Given the description of an element on the screen output the (x, y) to click on. 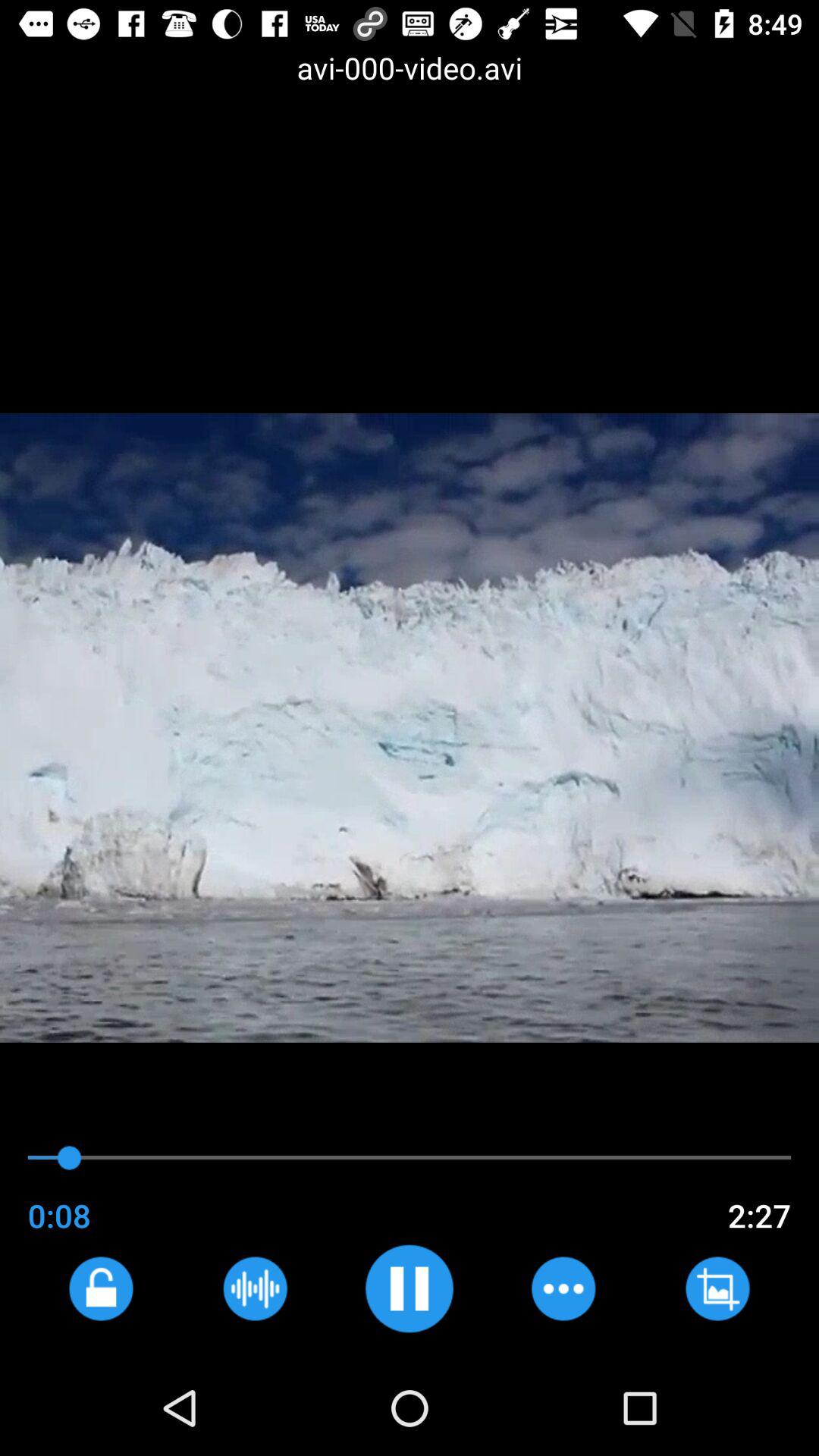
more options (563, 1288)
